Given the description of an element on the screen output the (x, y) to click on. 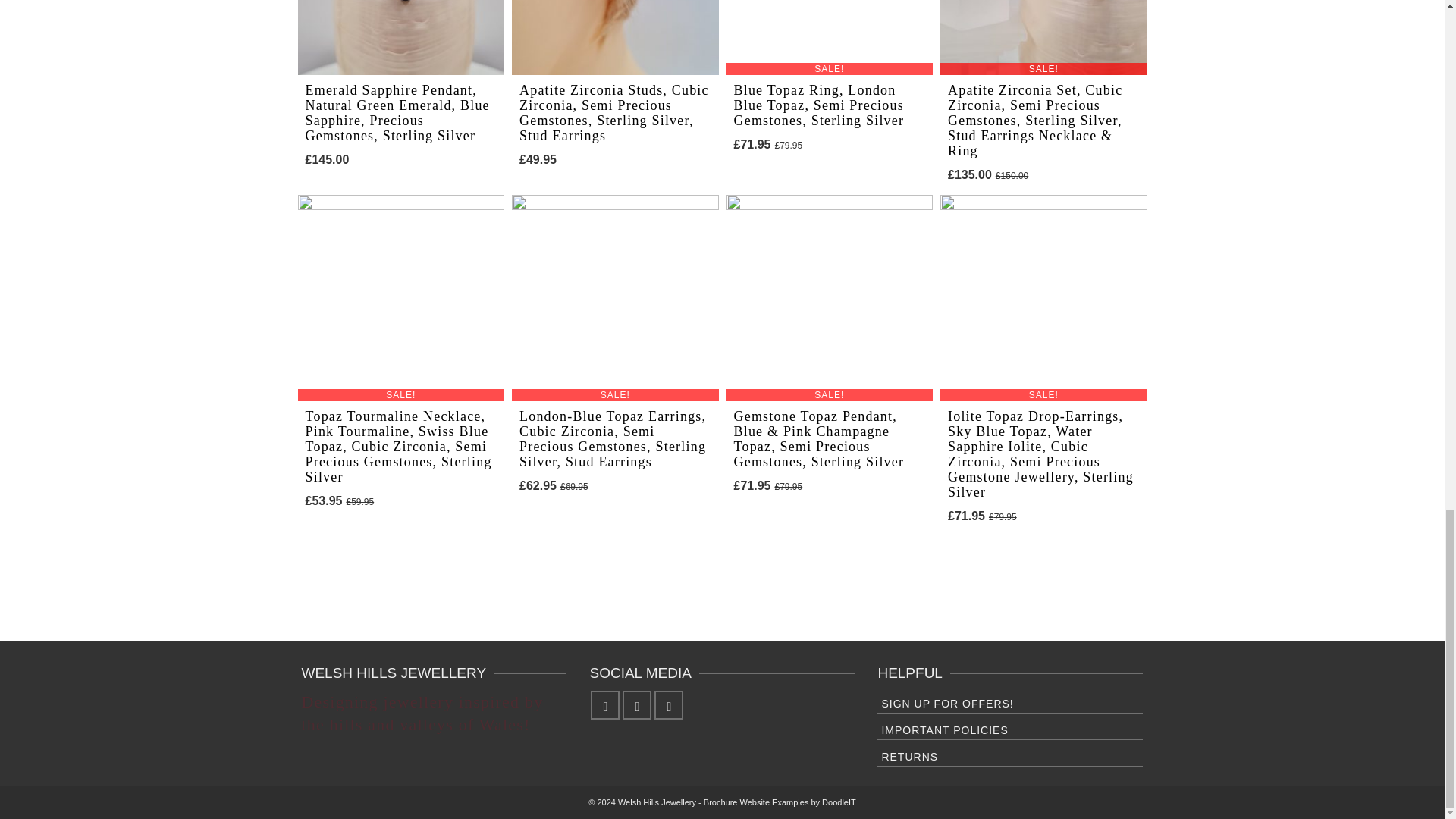
Examples of brochure websites by DoodleIT (779, 801)
